Given the description of an element on the screen output the (x, y) to click on. 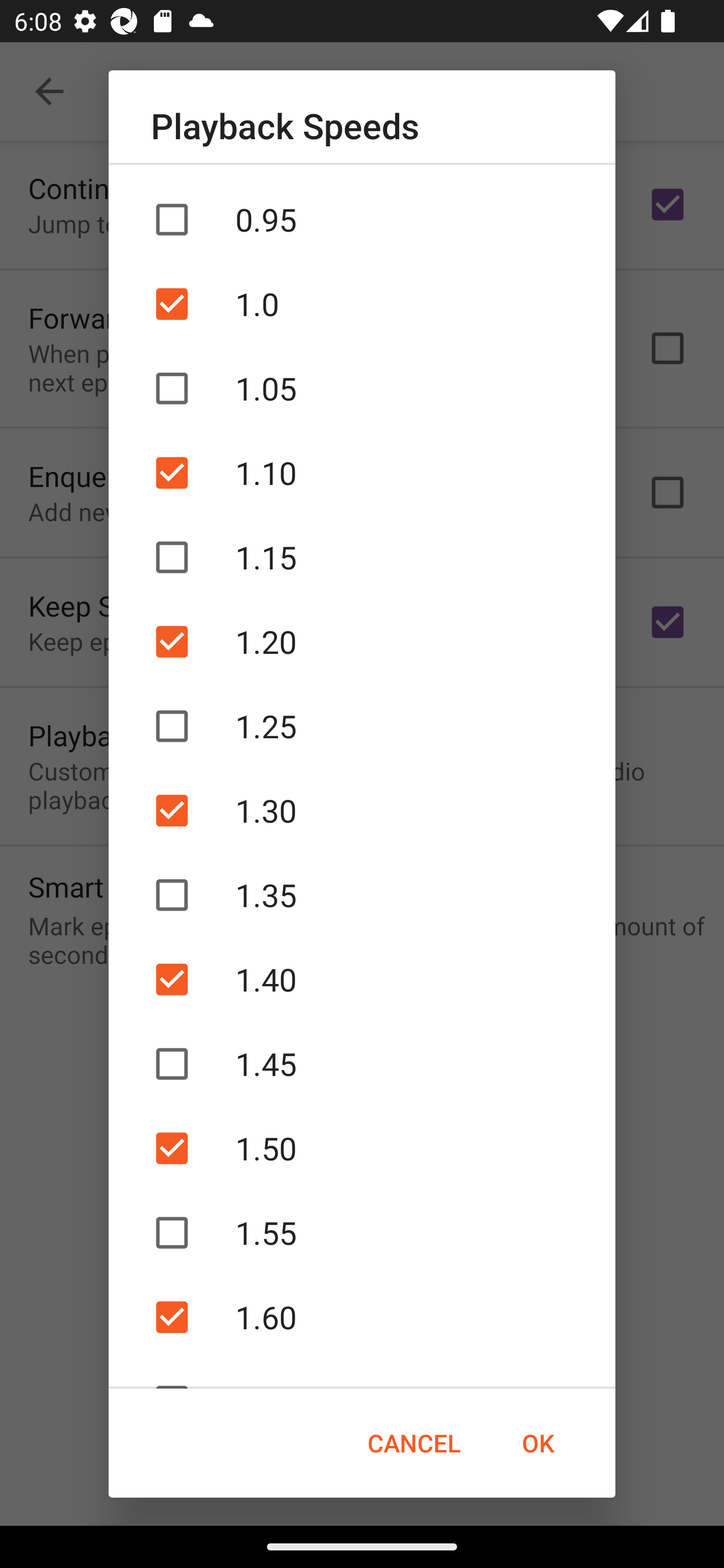
0.95 (361, 219)
1.0 (361, 303)
1.05 (361, 388)
1.10 (361, 473)
1.15 (361, 556)
1.20 (361, 640)
1.25 (361, 725)
1.30 (361, 810)
1.35 (361, 894)
1.40 (361, 979)
1.45 (361, 1063)
1.50 (361, 1147)
1.55 (361, 1232)
1.60 (361, 1316)
CANCEL (413, 1443)
OK (537, 1443)
